Given the description of an element on the screen output the (x, y) to click on. 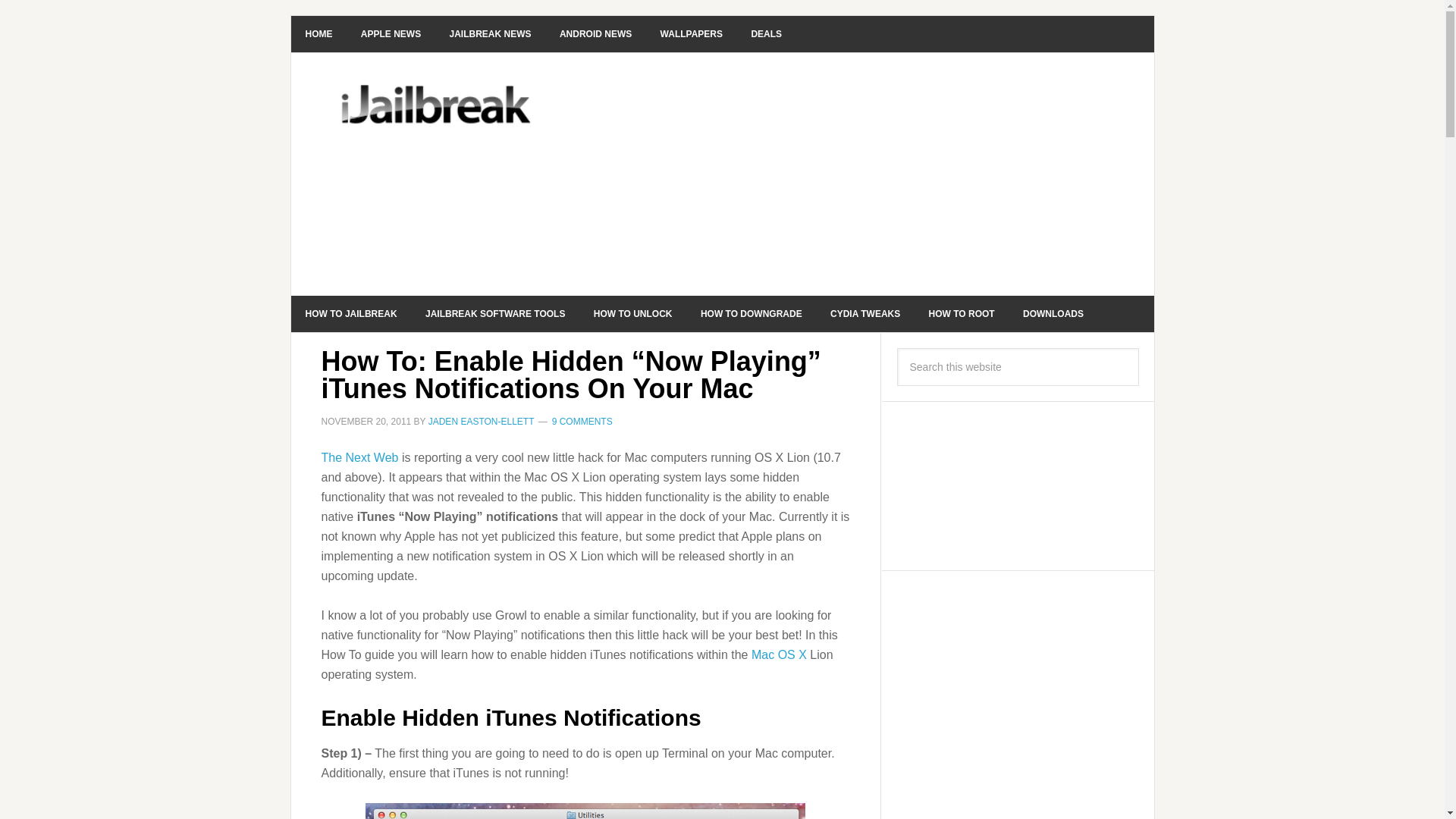
JAILBREAK NEWS (490, 33)
Jailbreak Software And Tools (494, 313)
Advertisement (835, 173)
HOW TO DOWNGRADE (750, 313)
HOW TO UNLOCK (633, 313)
HOW TO ROOT (961, 313)
DEALS (766, 33)
CYDIA TWEAKS (864, 313)
Latest Jailbreak News (490, 33)
ANDROID NEWS (595, 33)
How To Jailbreak (351, 313)
Retina Wallpapers (691, 33)
HOW TO JAILBREAK (351, 313)
